Given the description of an element on the screen output the (x, y) to click on. 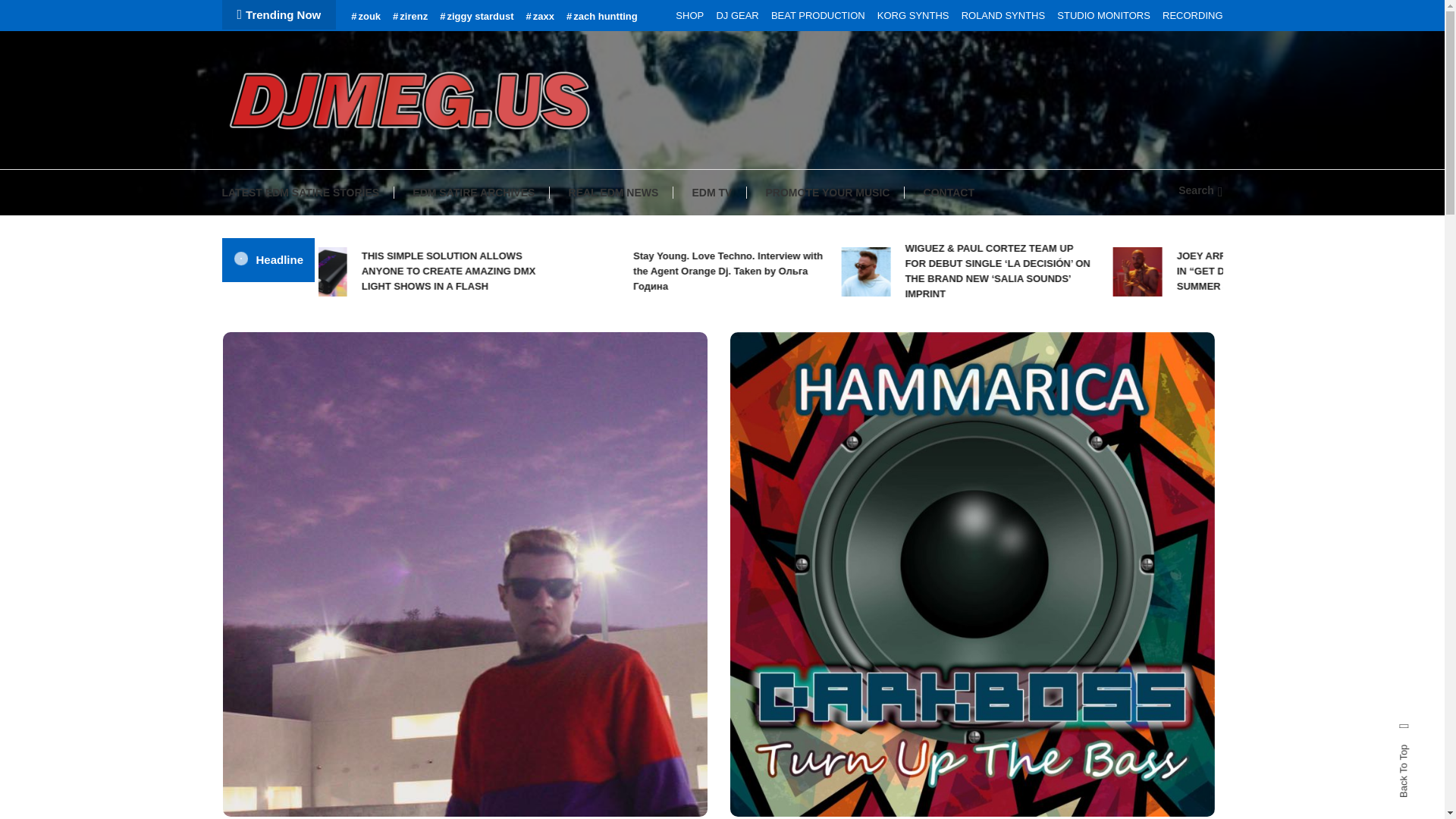
EDM SATIRE ARCHIVES (473, 192)
RECORDING (1192, 15)
zach huntting (601, 16)
zirenz (410, 16)
DJ GEAR (737, 15)
ziggy stardust (476, 16)
BEAT PRODUCTION (817, 15)
Search (1200, 190)
ROLAND SYNTHS (1002, 15)
Search (768, 434)
EDM TV (711, 192)
STUDIO MONITORS (1103, 15)
LATEST EDM SATIRE STORIES (307, 192)
CONTACT (949, 192)
zaxx (539, 16)
